Given the description of an element on the screen output the (x, y) to click on. 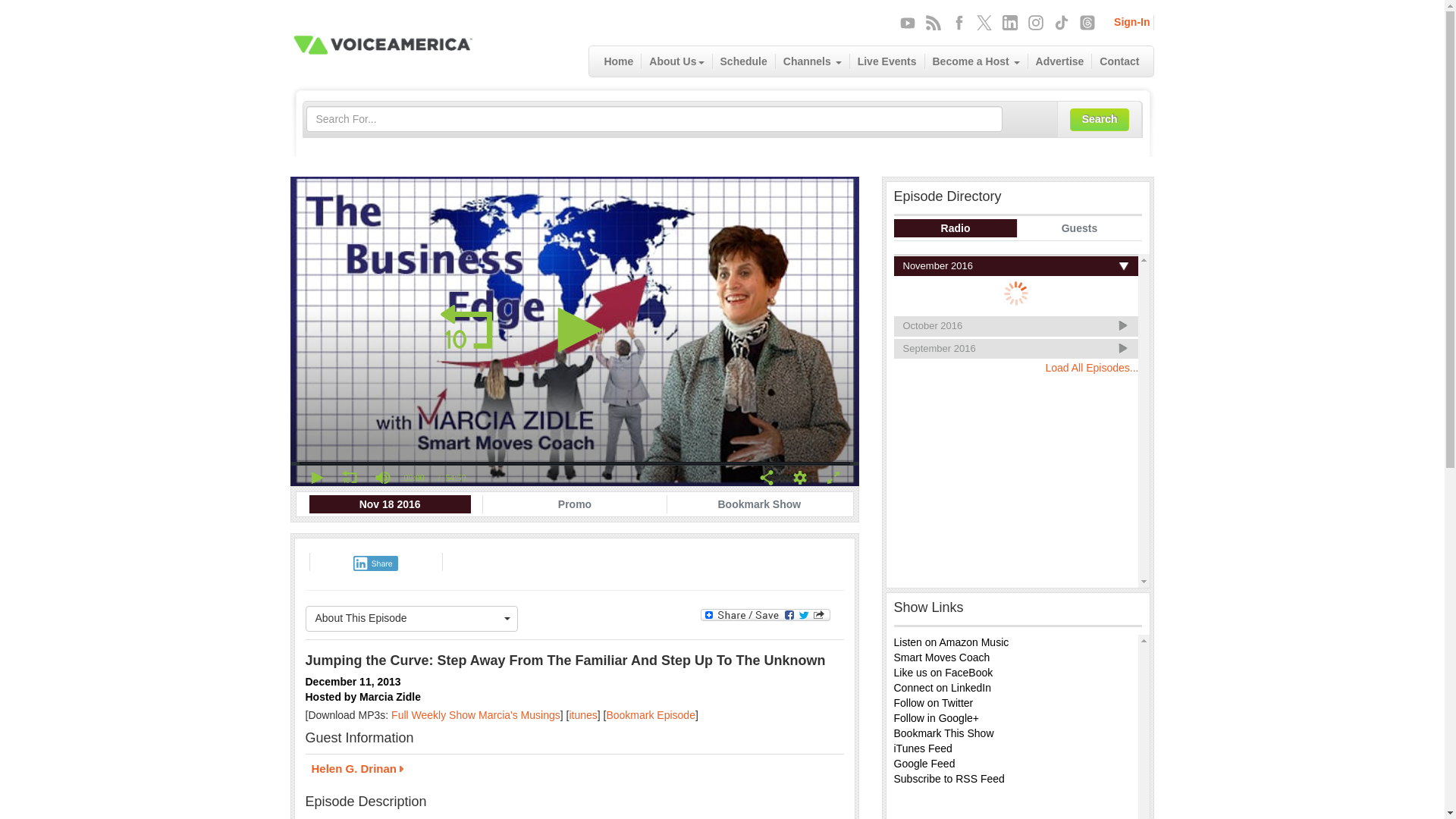
Bookmark Show (759, 504)
Advertise (1060, 61)
Contact (1119, 61)
Become a Host (975, 61)
Live Events (887, 61)
Promo (575, 504)
Search (1099, 119)
Schedule (744, 61)
Helen G. Drinan (573, 770)
Sign-In (1131, 21)
Nov 18 2016 (389, 504)
Share (375, 563)
About Us (676, 61)
Channels (813, 61)
